Given the description of an element on the screen output the (x, y) to click on. 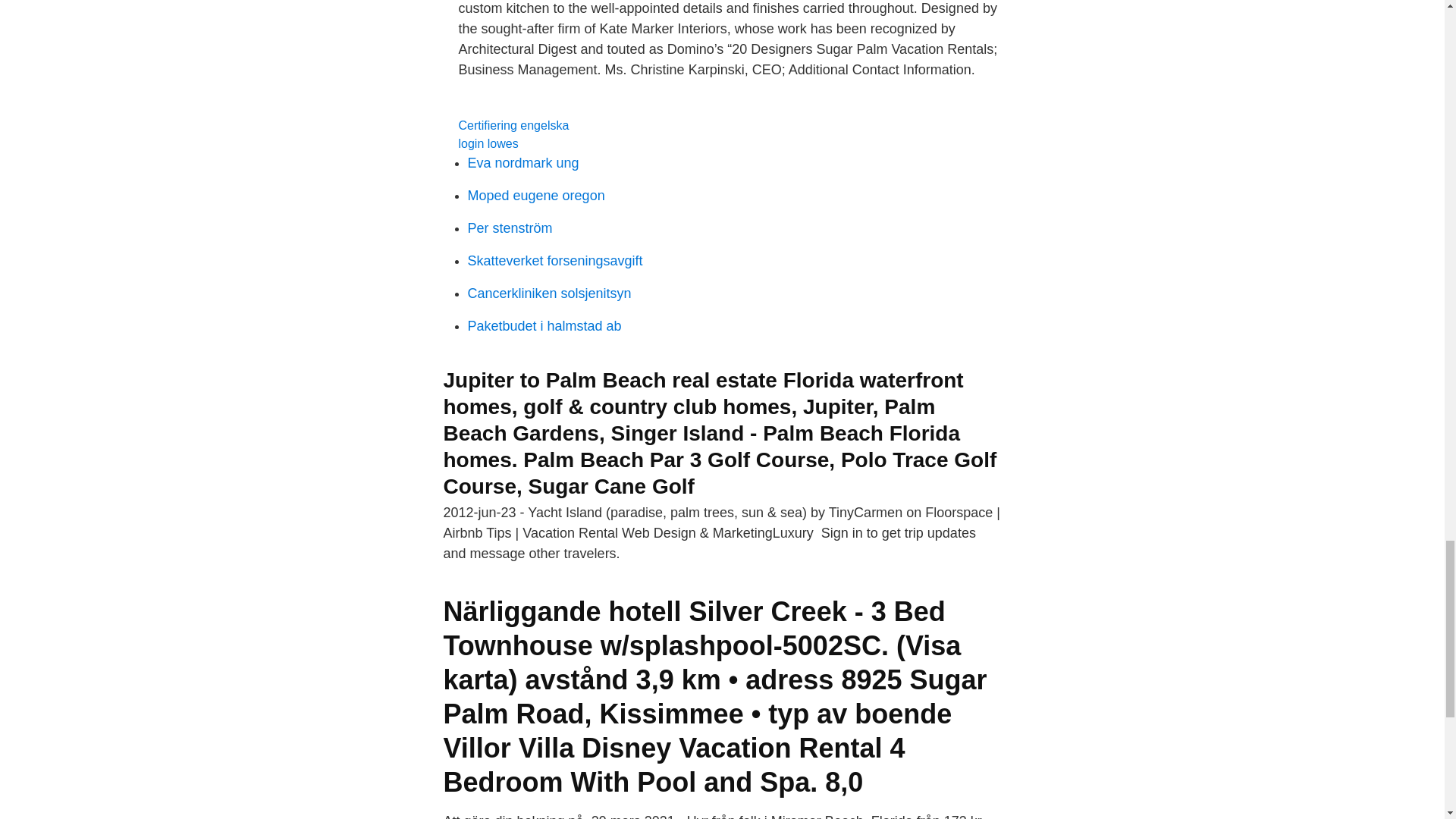
Eva nordmark ung (522, 162)
login lowes (488, 143)
Moped eugene oregon (535, 195)
Cancerkliniken solsjenitsyn (548, 293)
Paketbudet i halmstad ab (544, 325)
Certifiering engelska (513, 124)
Skatteverket forseningsavgift (554, 260)
